Given the description of an element on the screen output the (x, y) to click on. 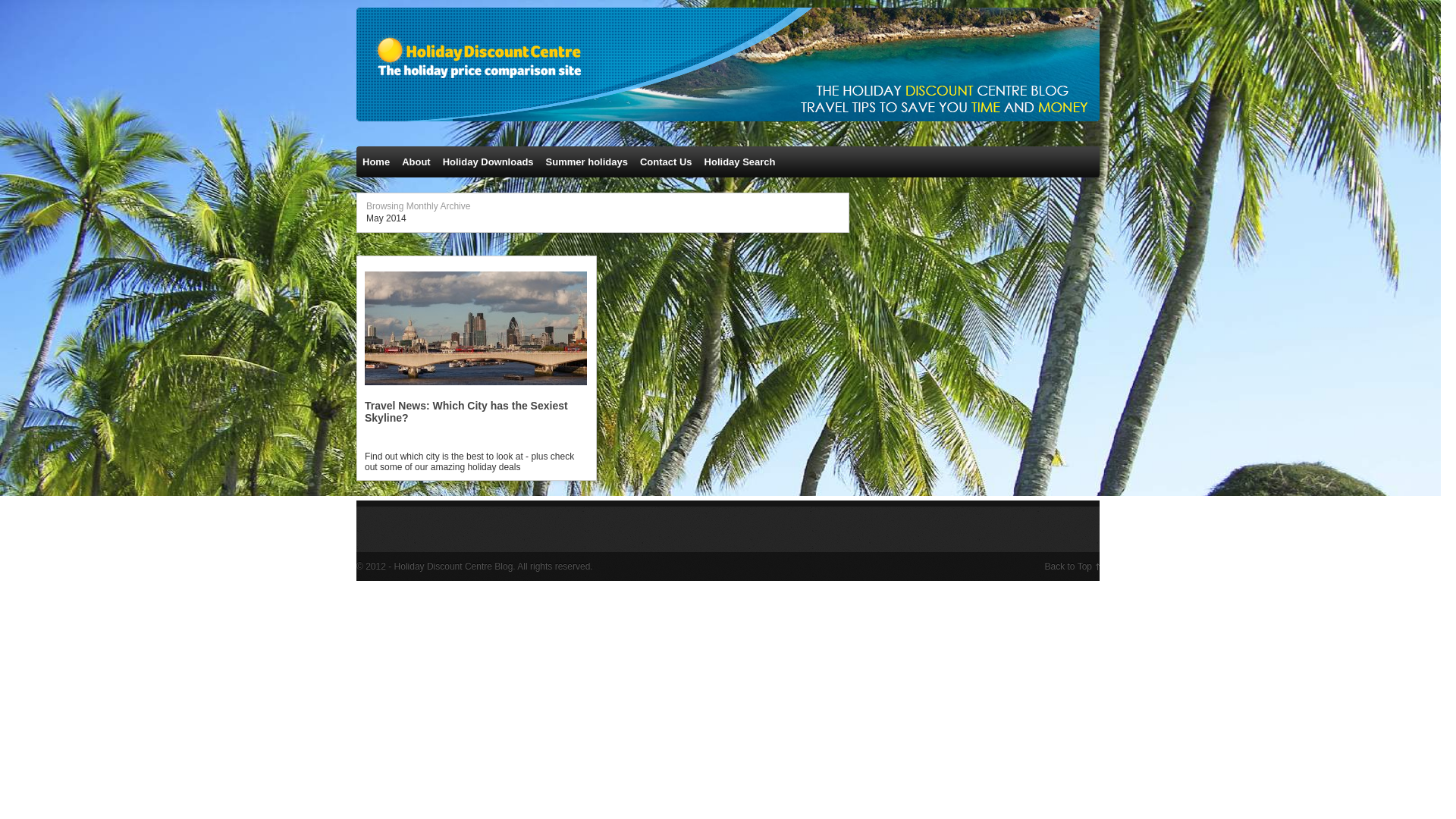
Holiday Downloads (488, 161)
About (416, 161)
Travel News: Which City has the Sexiest Skyline? (466, 411)
Contact Us (665, 161)
Back to Top (1072, 566)
Travel News: Which City has the Sexiest Skyline? (475, 394)
Home (376, 161)
Holiday Search (739, 161)
Summer holidays (586, 161)
Travel News: Which City has the Sexiest Skyline? (466, 411)
